Given the description of an element on the screen output the (x, y) to click on. 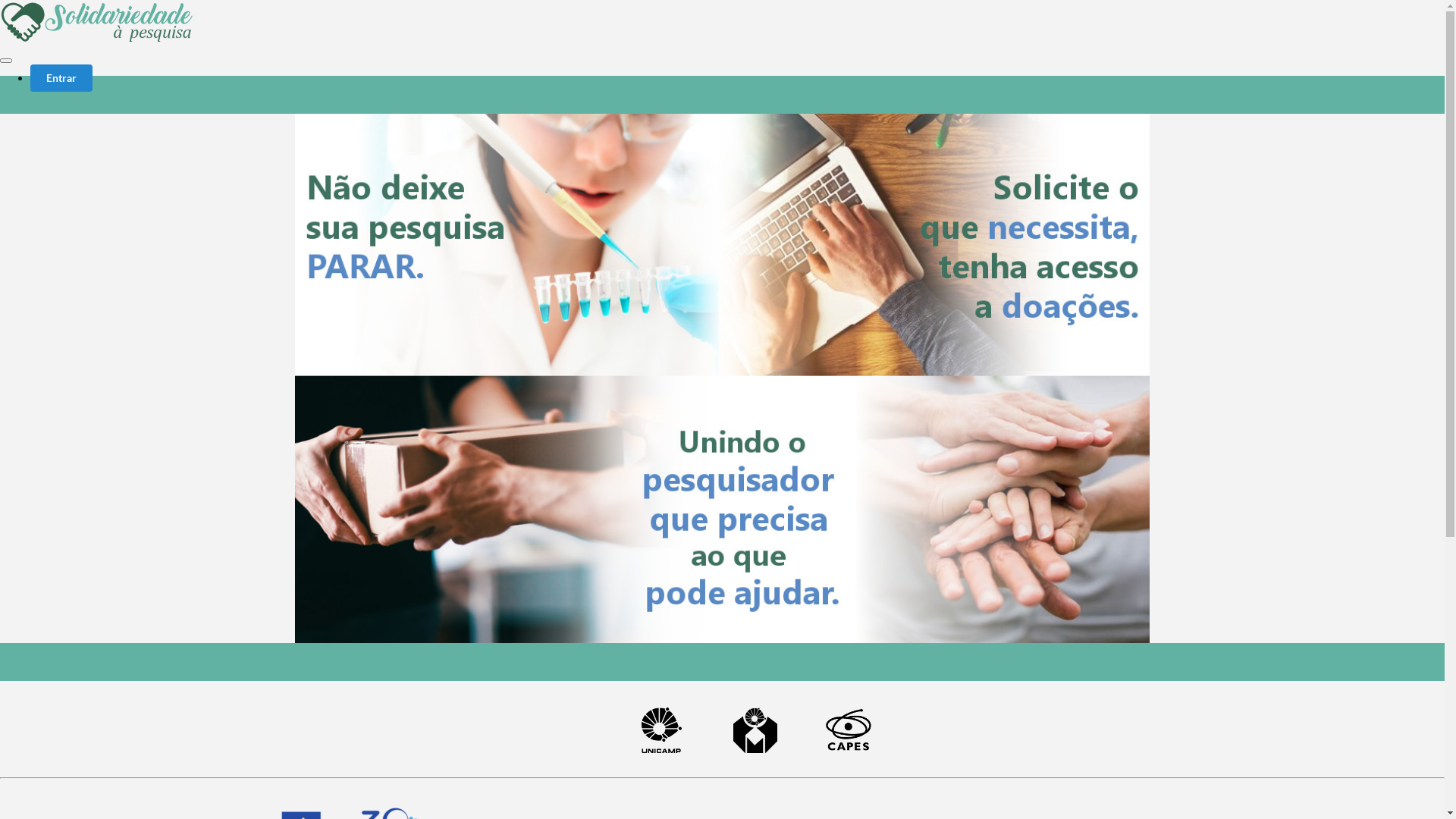
Entrar Element type: text (61, 77)
